Given the description of an element on the screen output the (x, y) to click on. 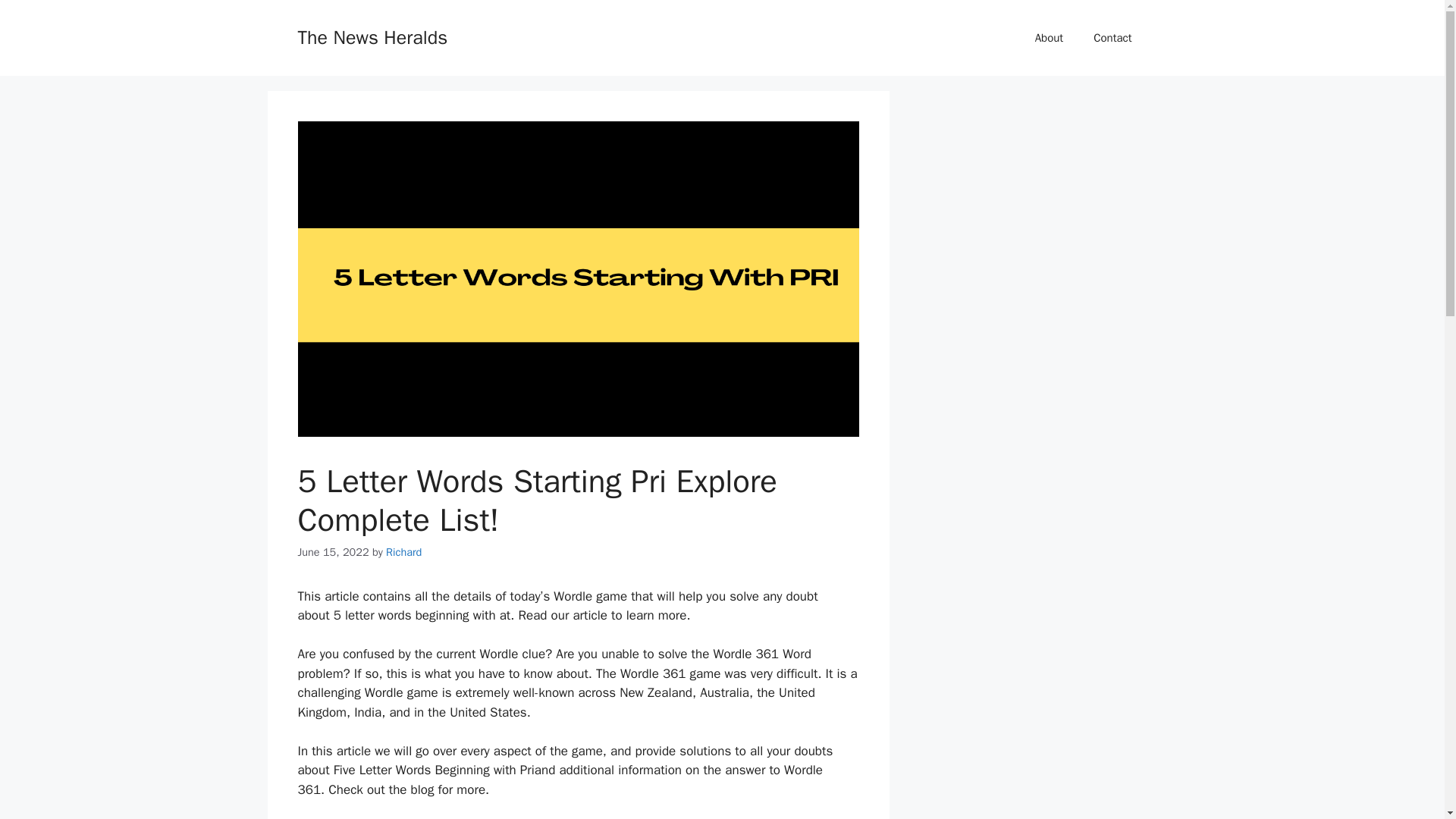
About (1049, 37)
Contact (1112, 37)
The News Heralds (371, 37)
Richard (403, 551)
View all posts by Richard (403, 551)
